Given the description of an element on the screen output the (x, y) to click on. 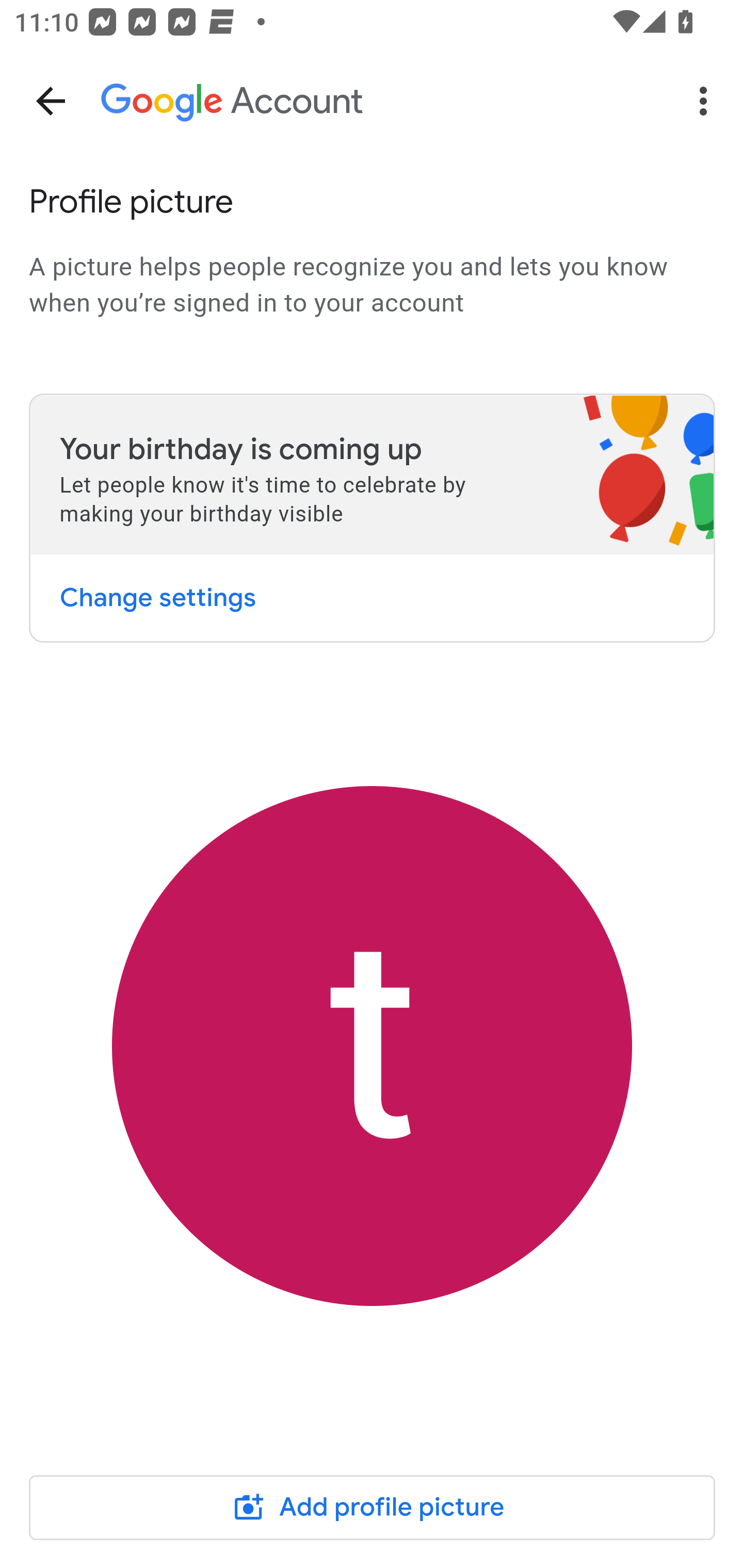
Navigate up (50, 101)
More options (706, 101)
Change settings (157, 596)
Add profile picture (372, 1506)
